Given the description of an element on the screen output the (x, y) to click on. 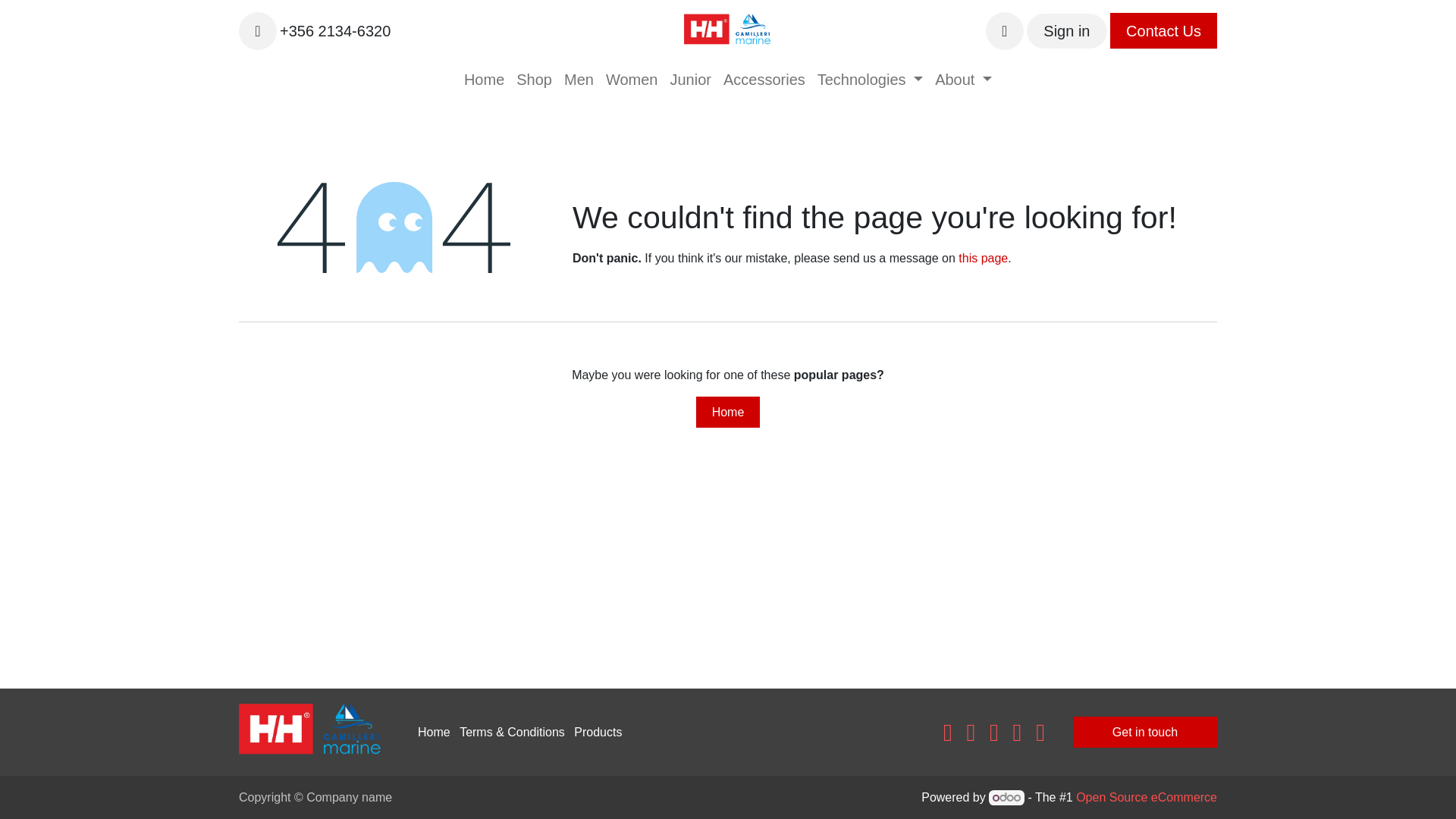
Sign in (1066, 30)
Junior (689, 79)
About (962, 79)
Technologies (869, 79)
Women (631, 79)
Home (484, 79)
Shop (534, 79)
Search (257, 30)
Accessories (763, 79)
Men (578, 79)
Contact Us (1163, 30)
HH Camilleri Marine Malta (727, 30)
